Given the description of an element on the screen output the (x, y) to click on. 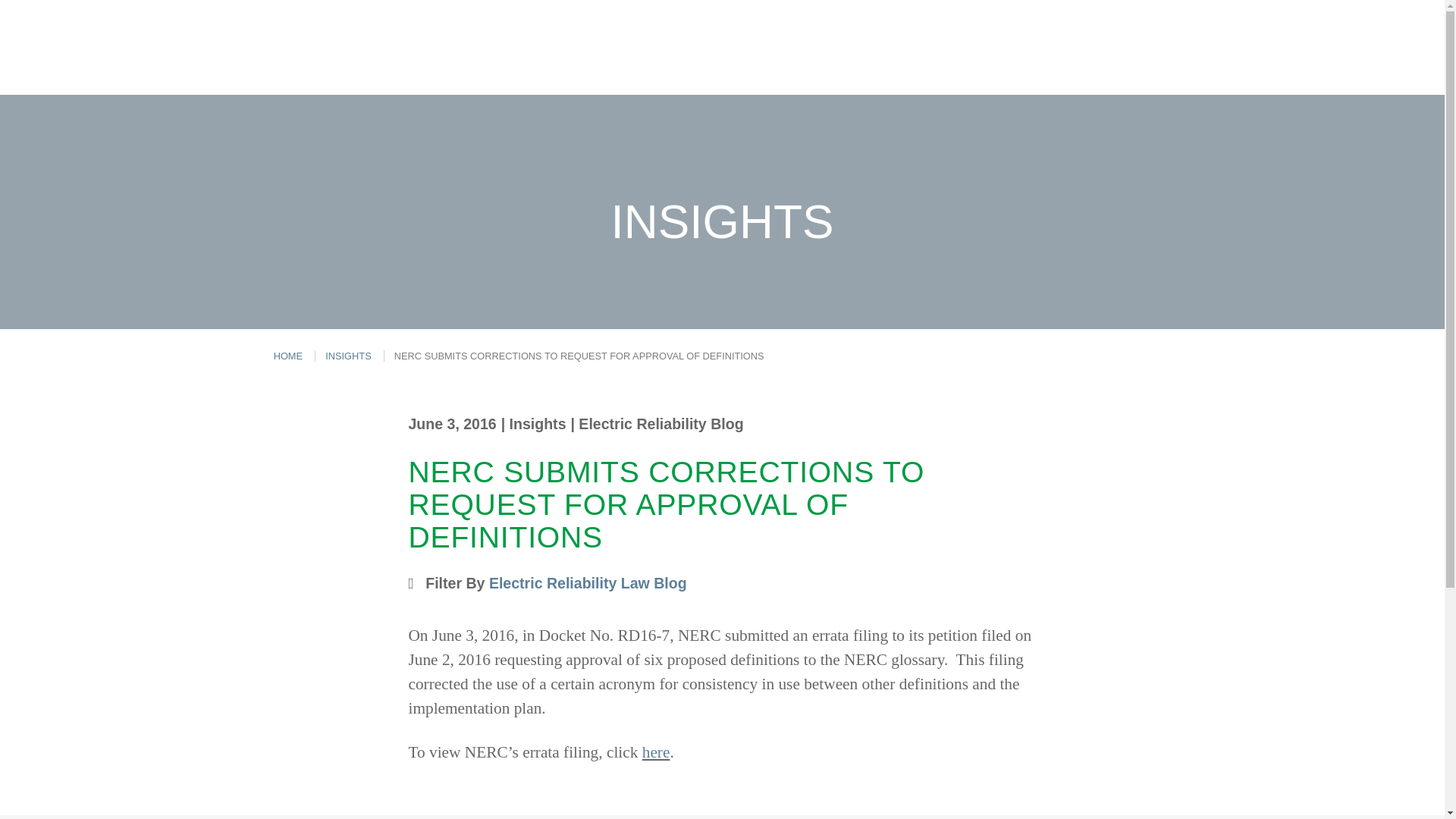
Electric Reliability Law Blog (588, 582)
HOME (287, 355)
INSIGHTS (347, 355)
